Given the description of an element on the screen output the (x, y) to click on. 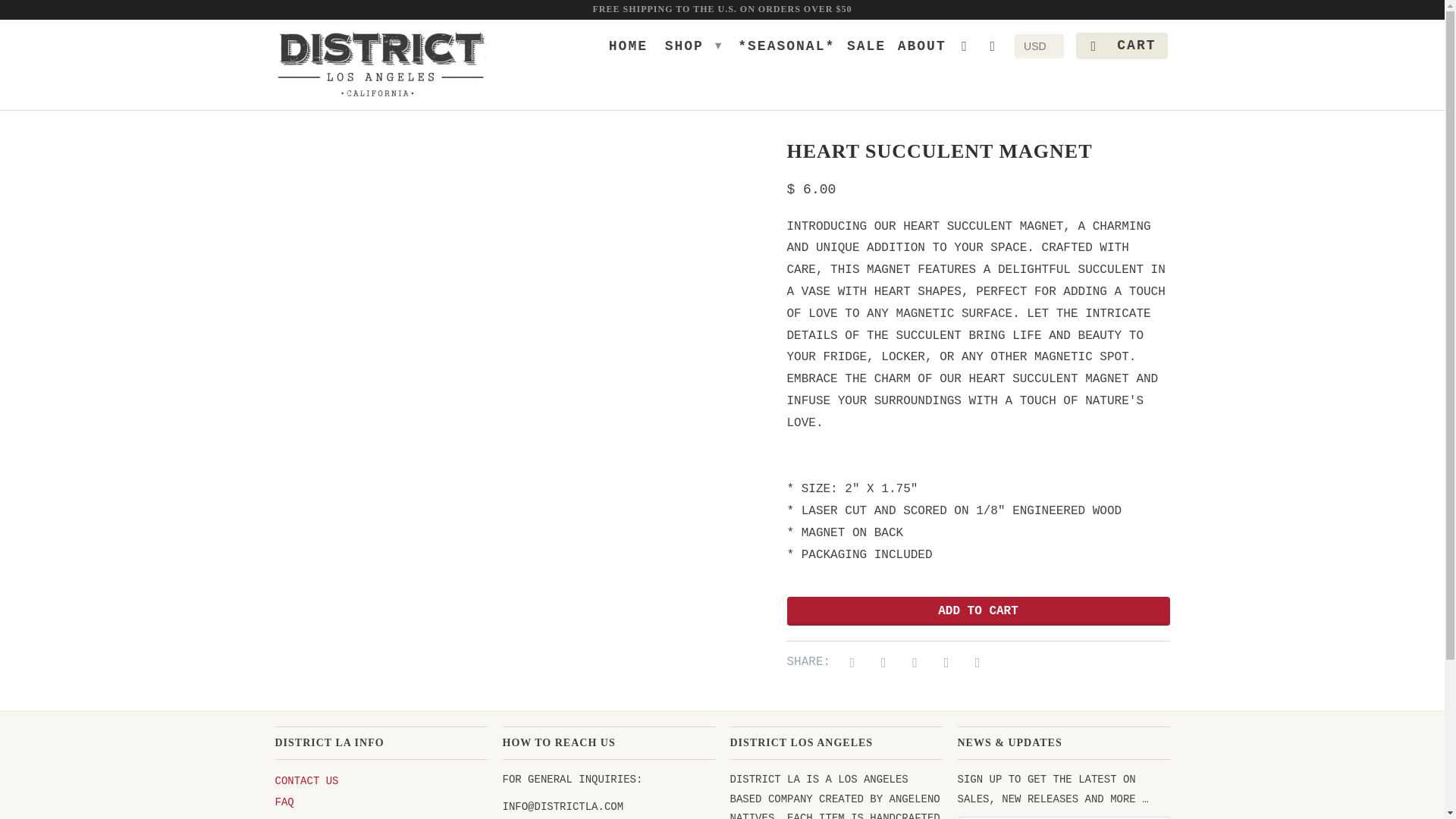
Products (377, 101)
Share this on Facebook (881, 662)
Share this on Twitter (849, 662)
My Account  (966, 48)
District Los Angeles (380, 64)
Search (995, 48)
Email this to a friend (974, 662)
Contact Us (306, 780)
FAQ (284, 802)
Share this on Pinterest (911, 662)
HOME (627, 48)
District Los Angeles (288, 101)
Search (294, 818)
